Given the description of an element on the screen output the (x, y) to click on. 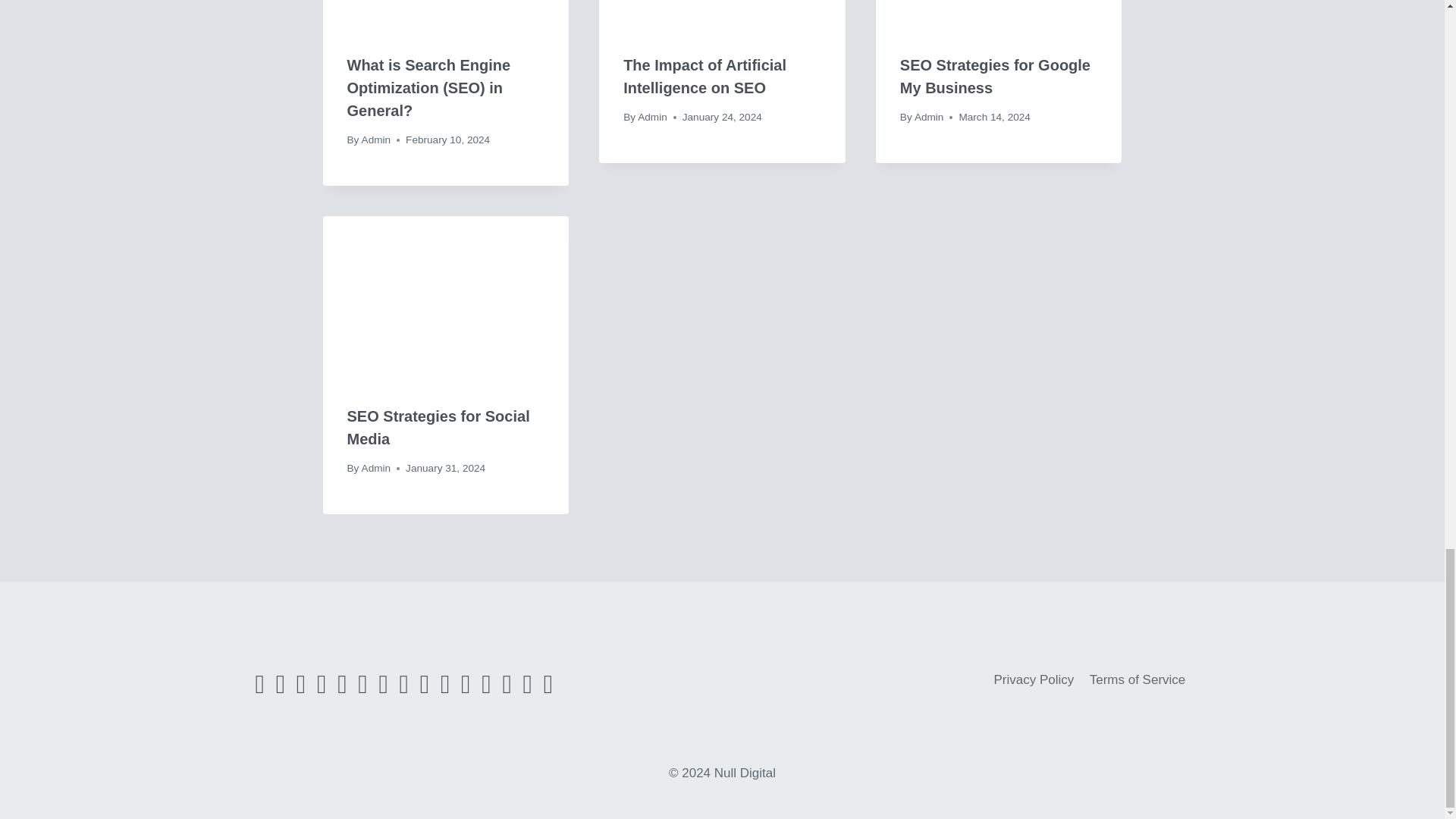
Admin (651, 116)
The Impact of Artificial Intelligence on SEO (704, 76)
SEO Strategies for Social Media (438, 427)
Admin (928, 116)
Admin (376, 468)
SEO Strategies for Google My Business (994, 76)
Admin (376, 139)
